Given the description of an element on the screen output the (x, y) to click on. 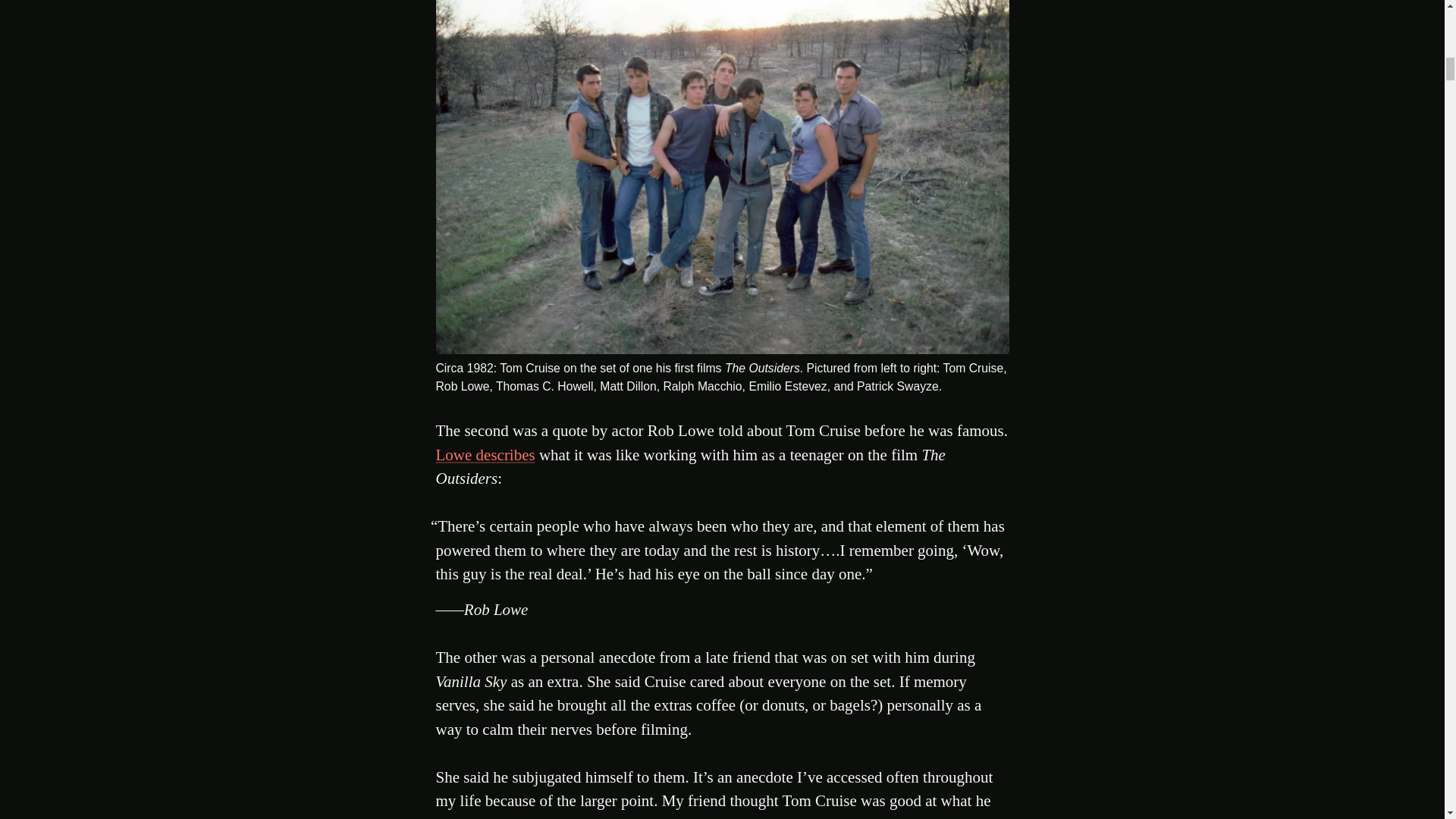
Lowe describes (484, 454)
